Given the description of an element on the screen output the (x, y) to click on. 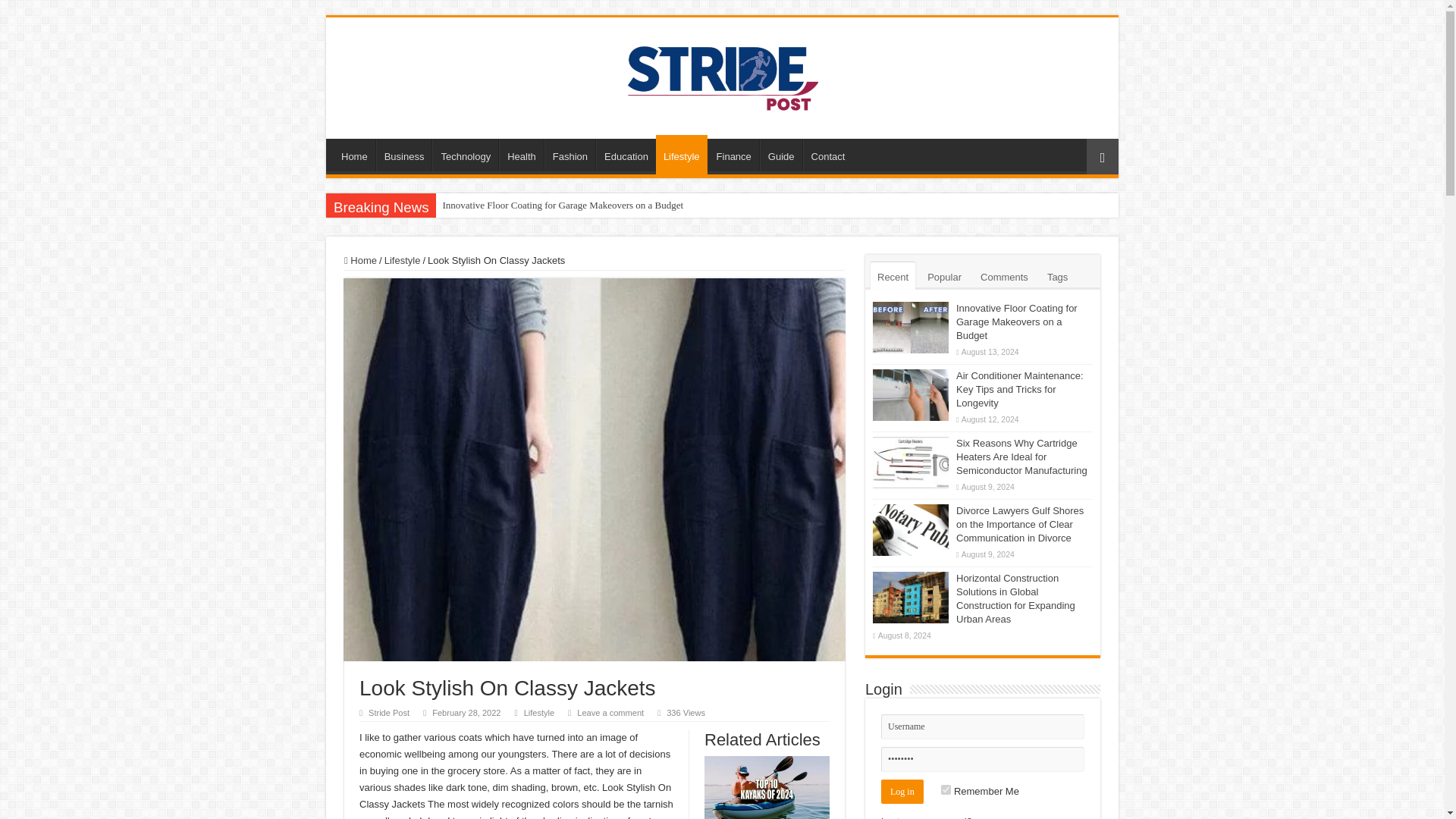
Lifestyle (402, 260)
Innovative Floor Coating for Garage Makeovers on a Budget (561, 205)
Lifestyle (681, 154)
Home (360, 260)
Home (354, 154)
Health (521, 154)
Guide (781, 154)
forever (945, 789)
Stride Post (388, 712)
Business (403, 154)
